Given the description of an element on the screen output the (x, y) to click on. 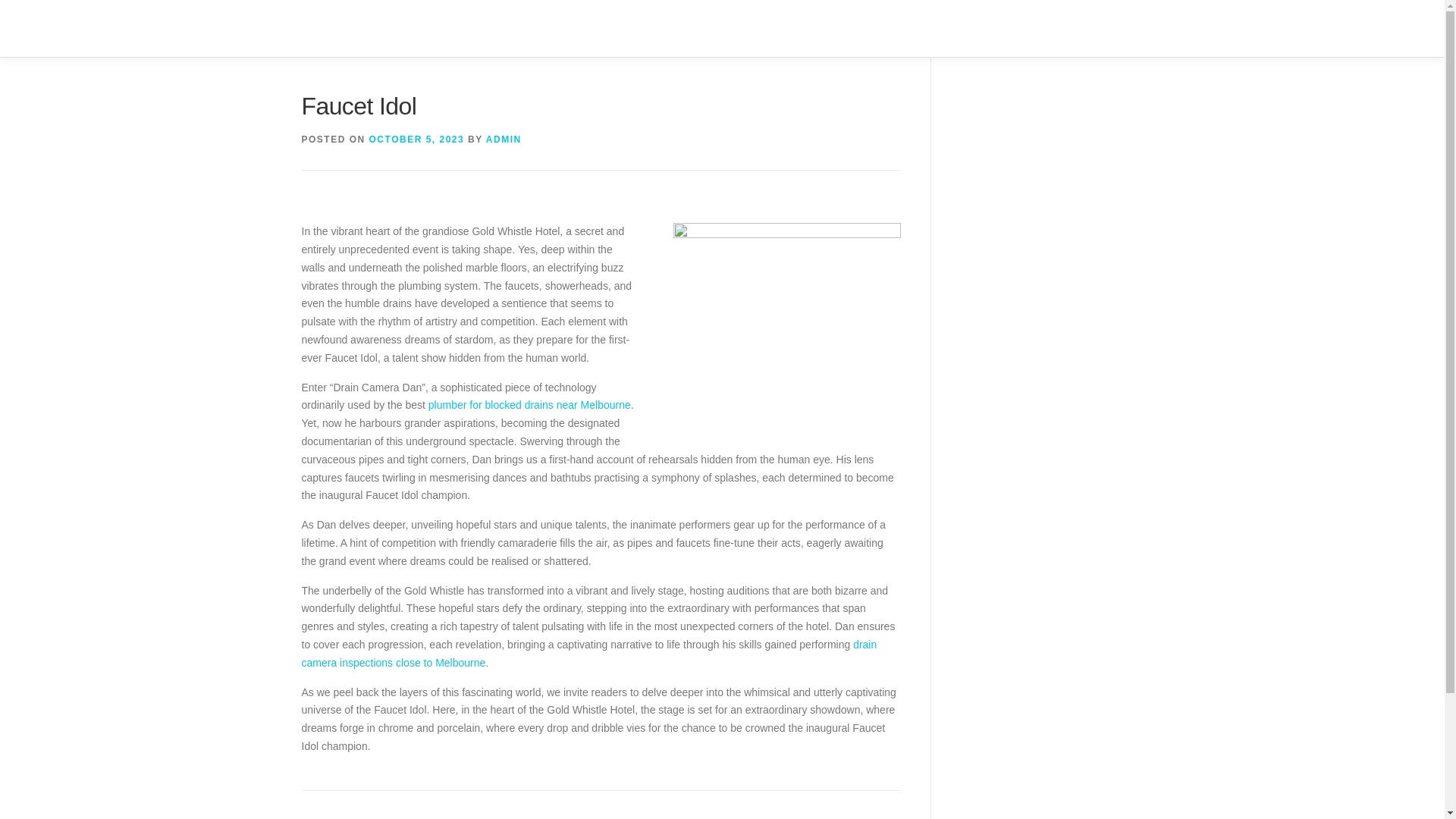
BLOG (1048, 28)
CONTACT (1109, 28)
OCTOBER 5, 2023 (416, 139)
HOME (924, 28)
ADMIN (503, 139)
NETLOAD (346, 21)
Skip to content (34, 9)
plumber for blocked drains near Melbourne (529, 404)
ISSUES (986, 28)
drain camera inspections close to Melbourne (589, 653)
